Given the description of an element on the screen output the (x, y) to click on. 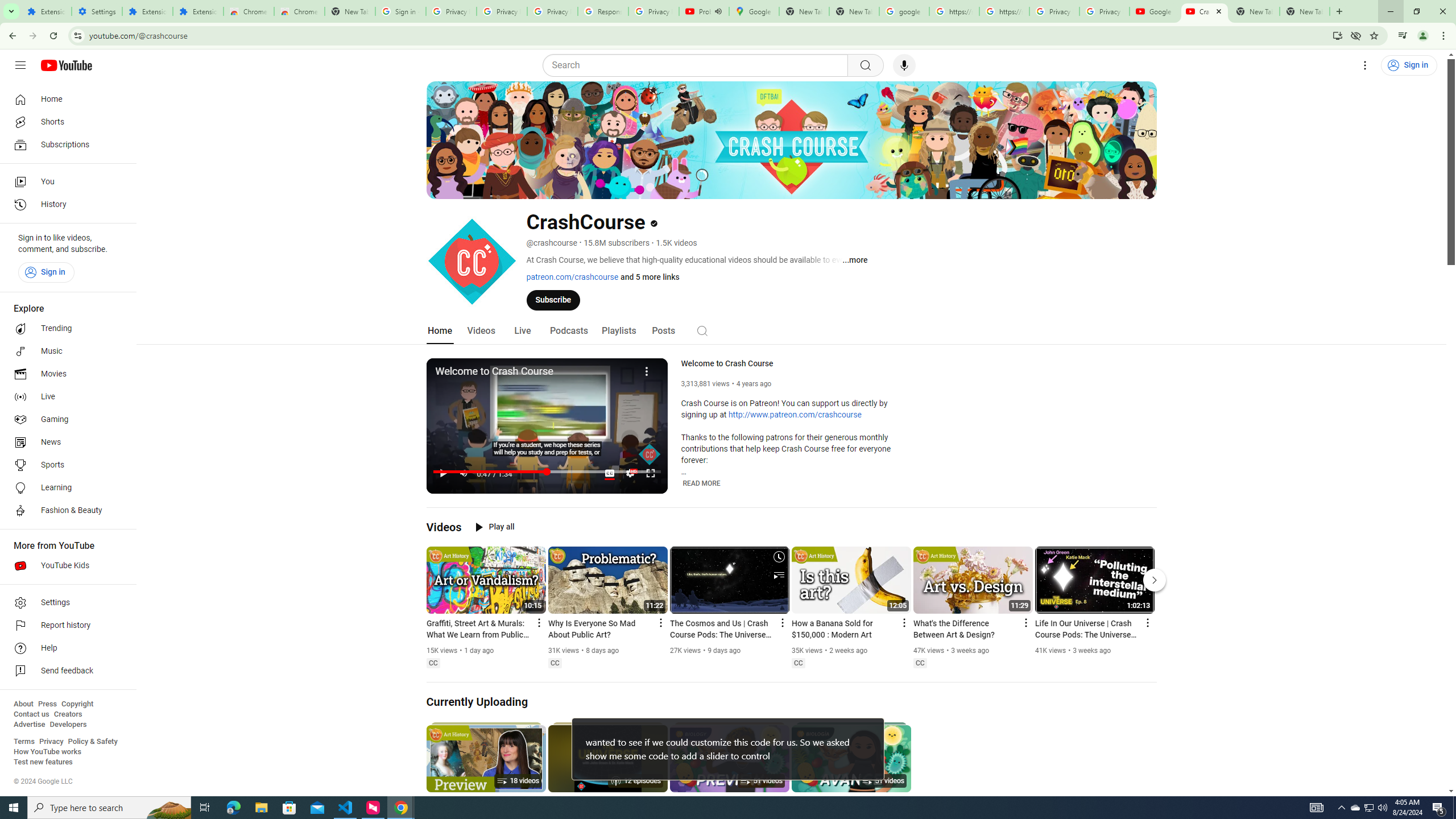
Playlists (618, 330)
Chrome (1445, 35)
Advertise (29, 724)
Settings (97, 11)
New Tab (1304, 11)
About (23, 703)
YouTube Home (66, 65)
Copyright (77, 703)
Privacy (51, 741)
Settings (64, 602)
Address and search bar (707, 35)
Currently Uploading (477, 701)
View site information (77, 35)
Terms (23, 741)
